Given the description of an element on the screen output the (x, y) to click on. 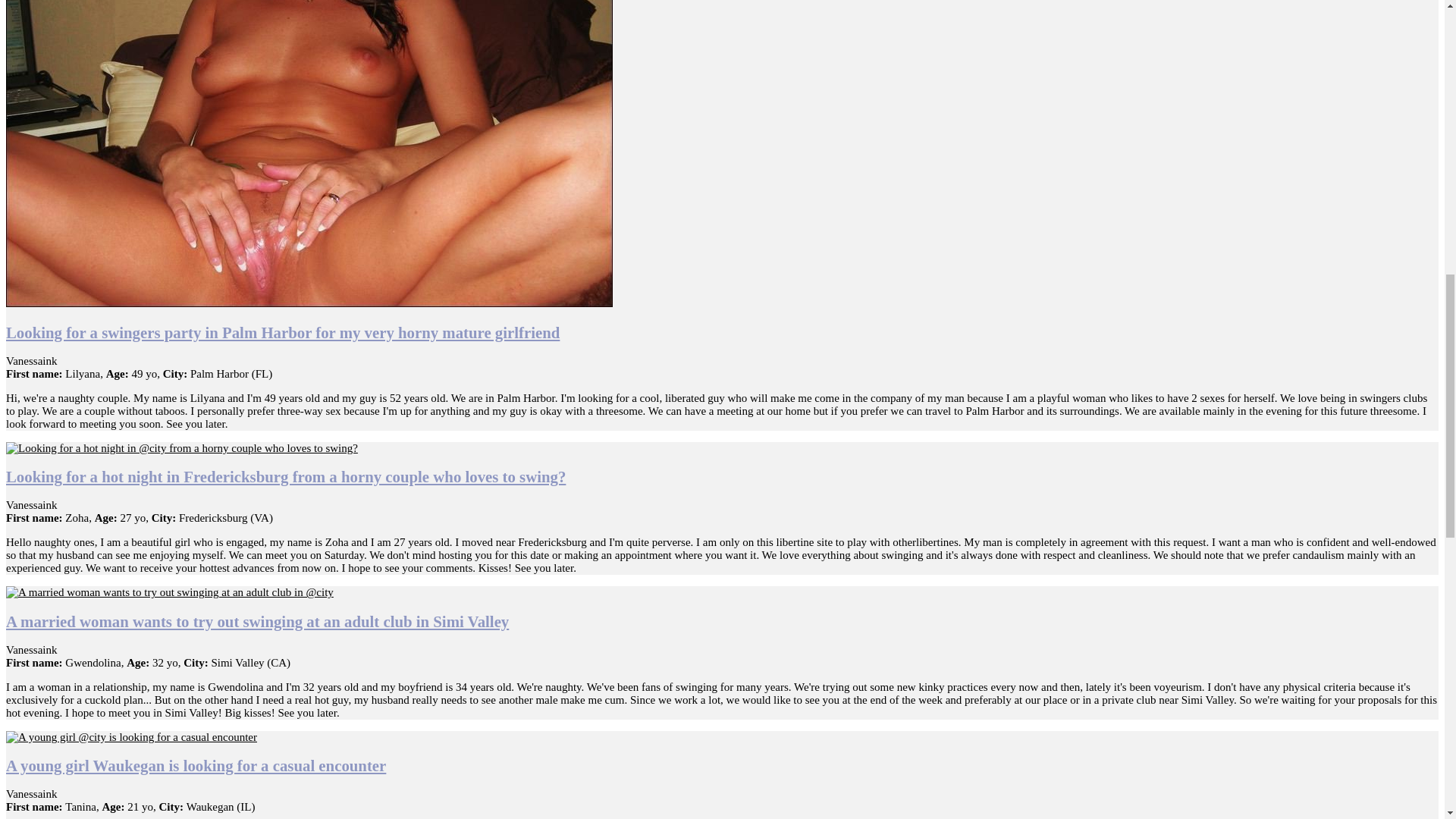
A young girl Waukegan is looking for a casual encounter (195, 764)
